Given the description of an element on the screen output the (x, y) to click on. 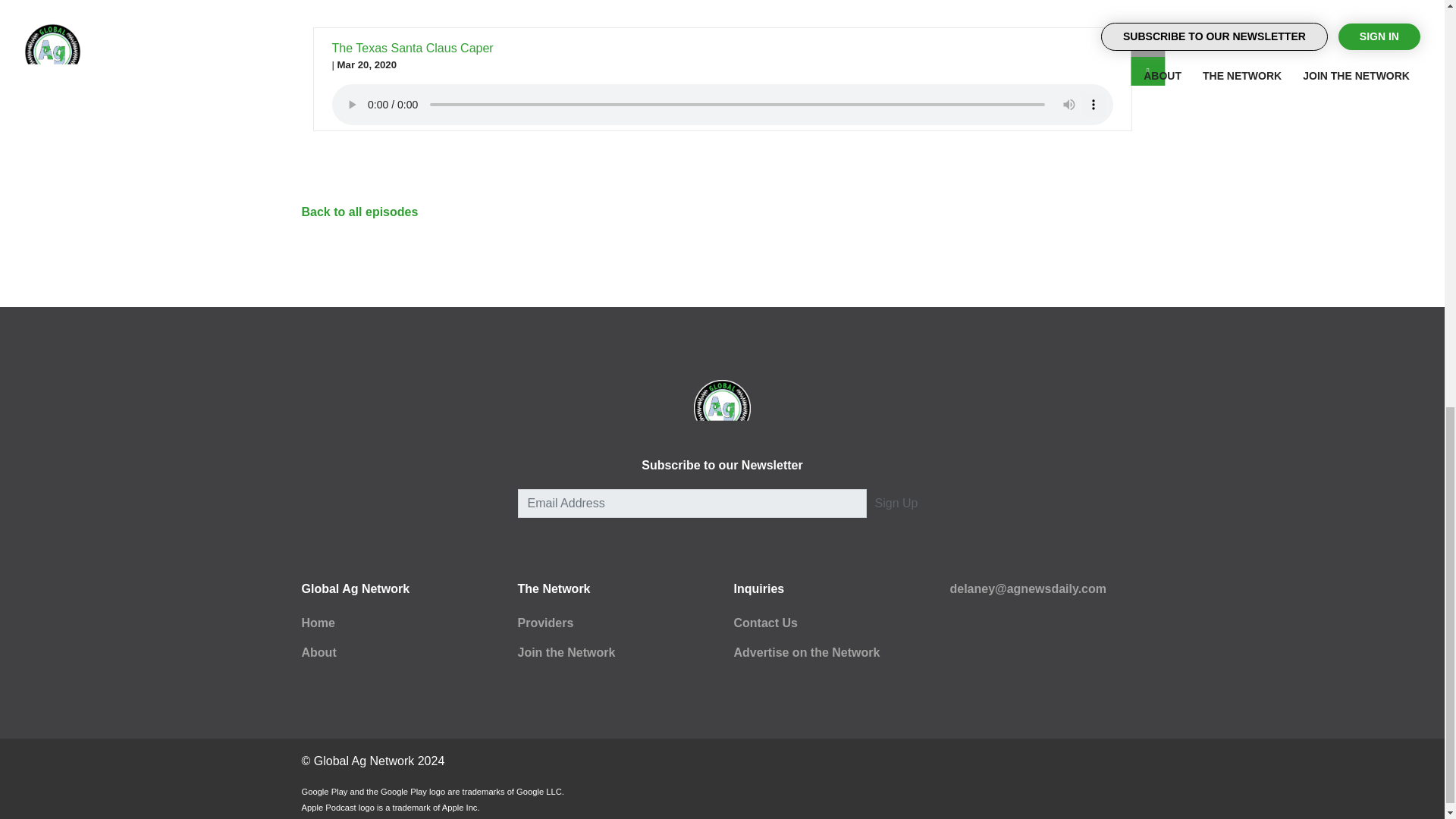
Embed This Episode (1147, 41)
Providers (544, 622)
The Texas Santa Claus Caper (412, 47)
Advertise on the Network (806, 652)
Join the Network (565, 652)
Contact Us (765, 622)
Home (317, 622)
Back to all episodes (360, 211)
About (318, 652)
Sign Up (896, 502)
